Given the description of an element on the screen output the (x, y) to click on. 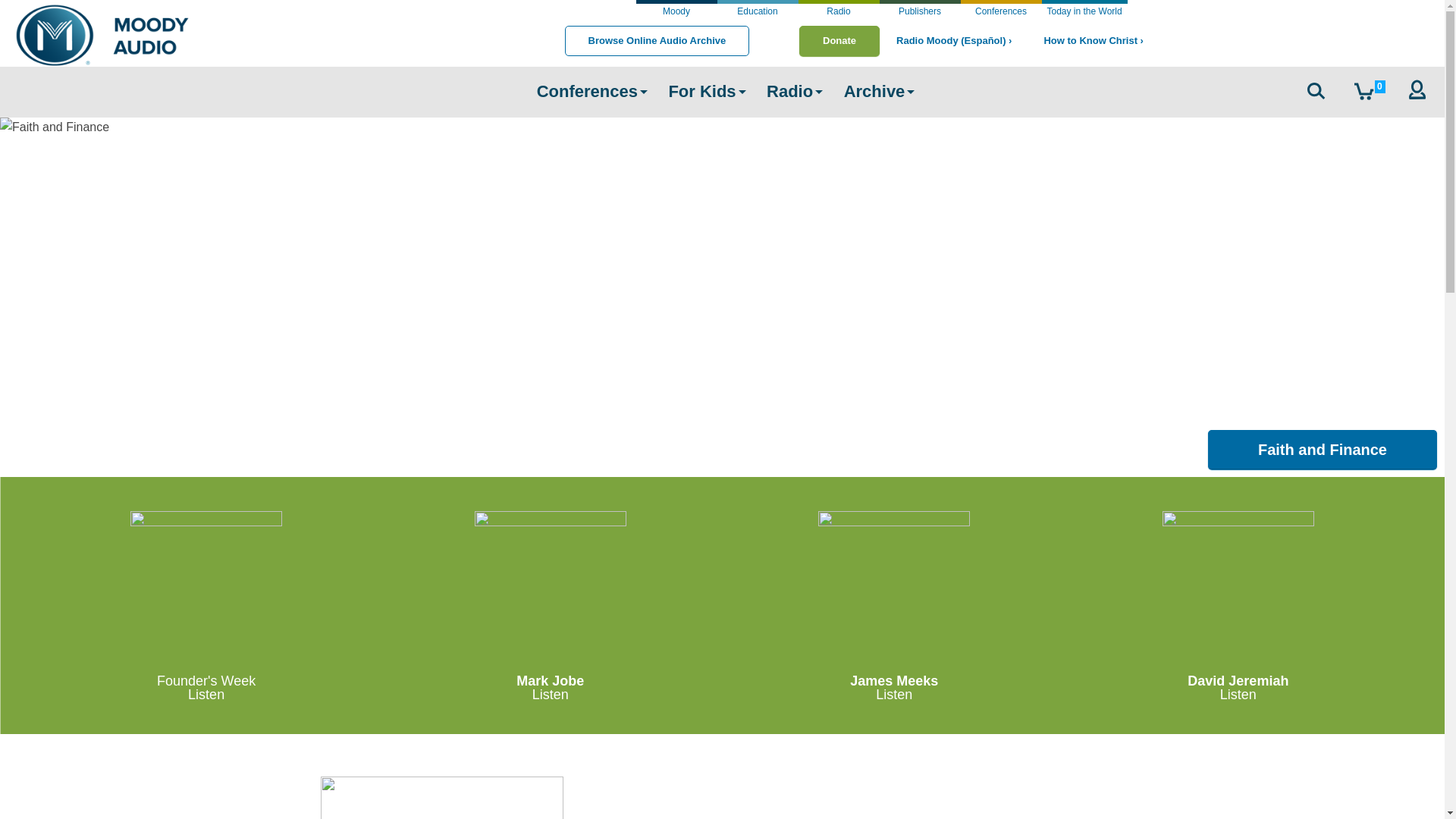
Home (101, 35)
0 (1369, 93)
Browse Online Audio Archive (656, 40)
Conferences (586, 94)
Conferences (586, 94)
Donate (839, 40)
